Given the description of an element on the screen output the (x, y) to click on. 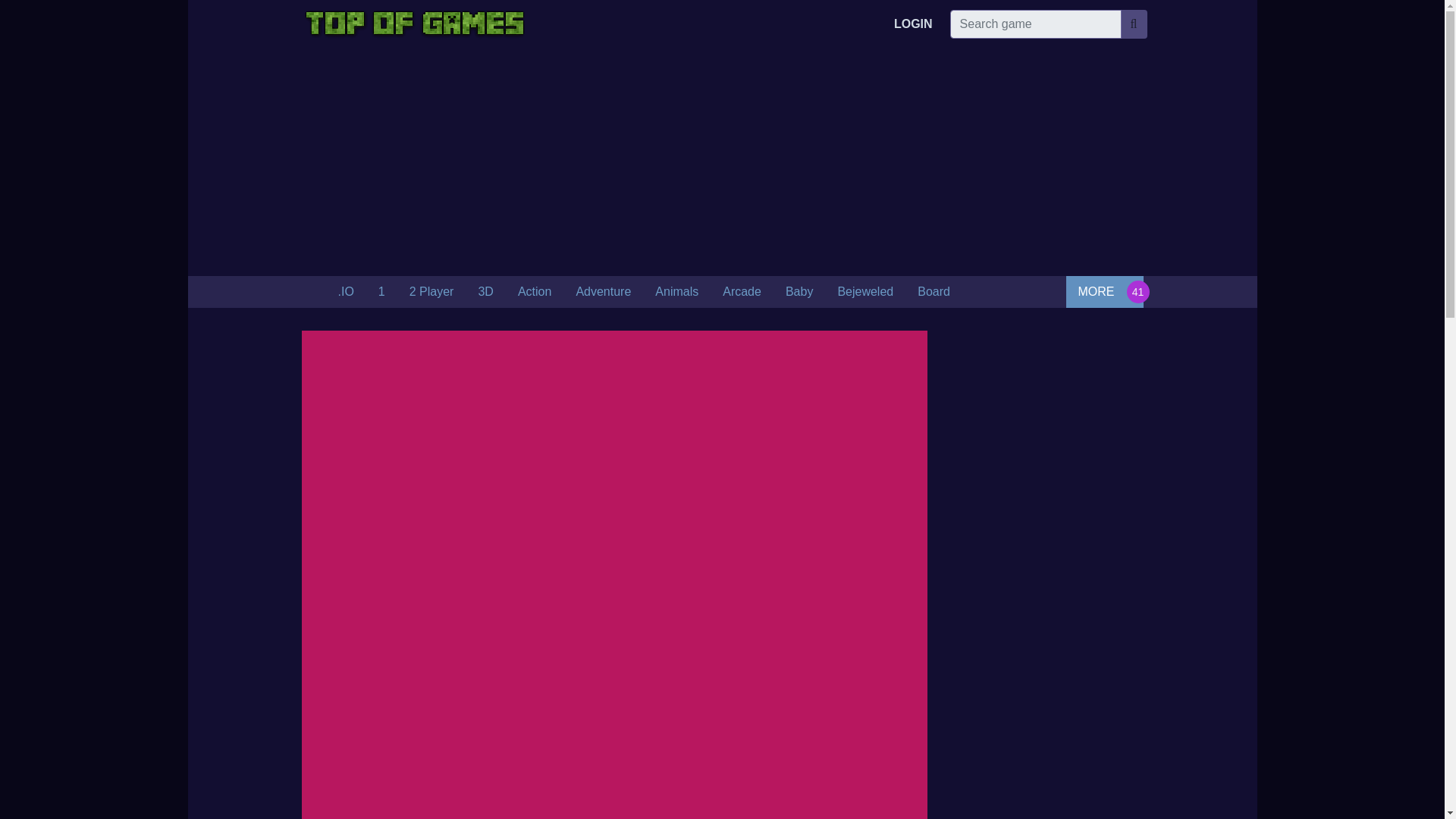
Animals (676, 291)
Action (534, 291)
3D (485, 291)
LOGIN (913, 24)
Adventure (603, 291)
Board (933, 291)
.IO (346, 291)
2 Player (431, 291)
MORE (1103, 291)
1 (381, 291)
Baby (799, 291)
Arcade (741, 291)
Bejeweled (865, 291)
